Given the description of an element on the screen output the (x, y) to click on. 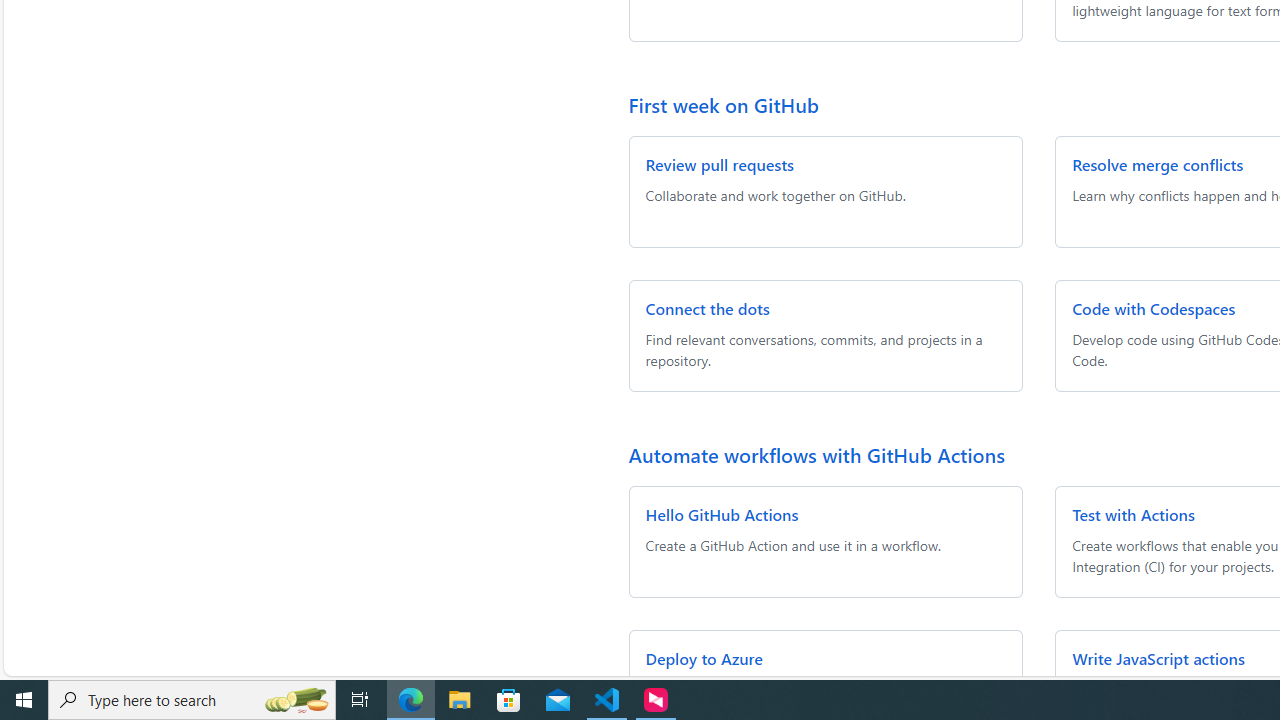
Test with Actions (1133, 513)
First week on GitHub (723, 104)
Write JavaScript actions (1158, 658)
Deploy to Azure (703, 658)
Connect the dots (707, 308)
Hello GitHub Actions (721, 513)
Review pull requests (719, 164)
Resolve merge conflicts (1158, 164)
Automate workflows with GitHub Actions (816, 454)
Code with Codespaces (1154, 308)
